Given the description of an element on the screen output the (x, y) to click on. 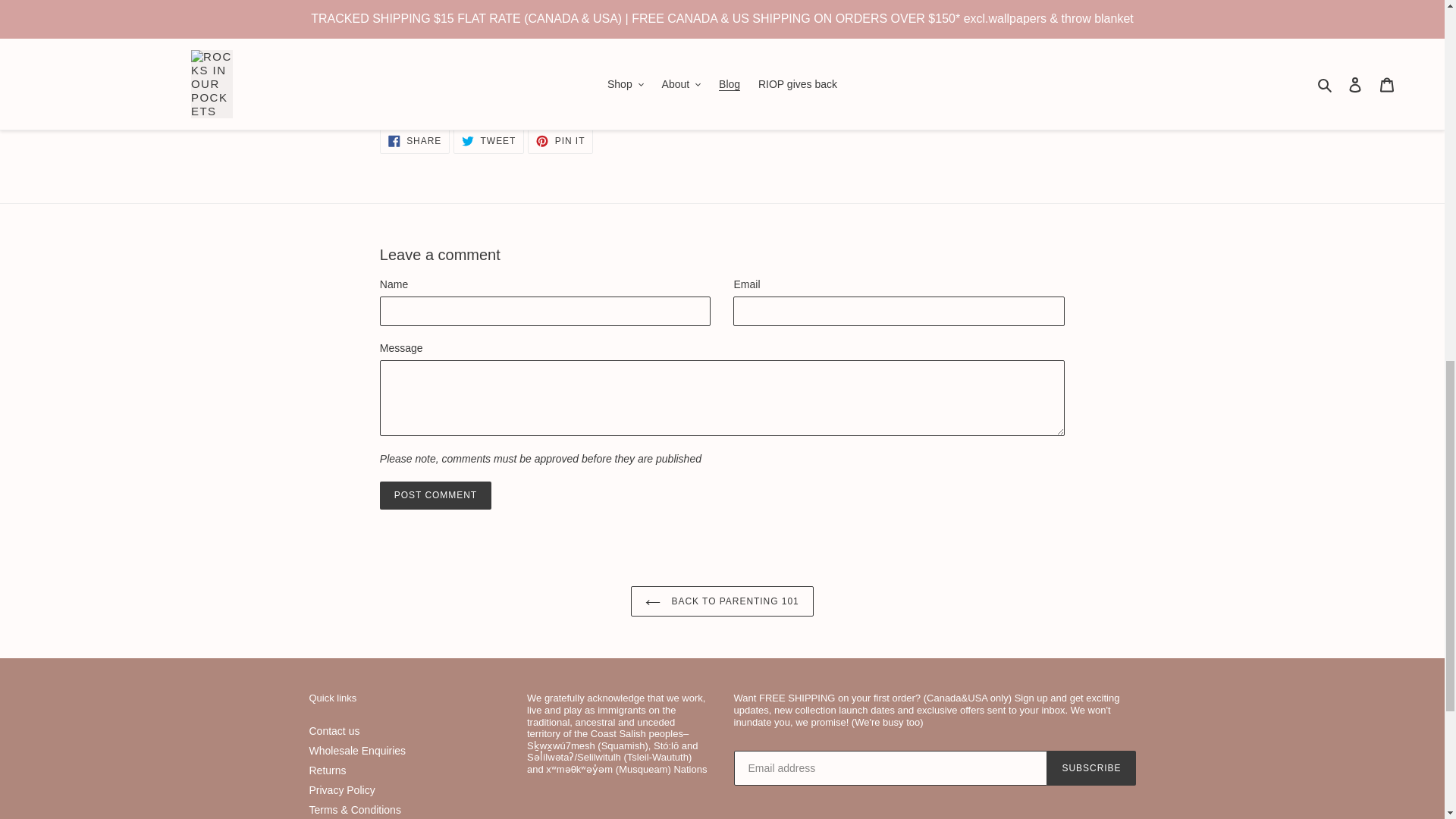
Post comment (436, 494)
